Given the description of an element on the screen output the (x, y) to click on. 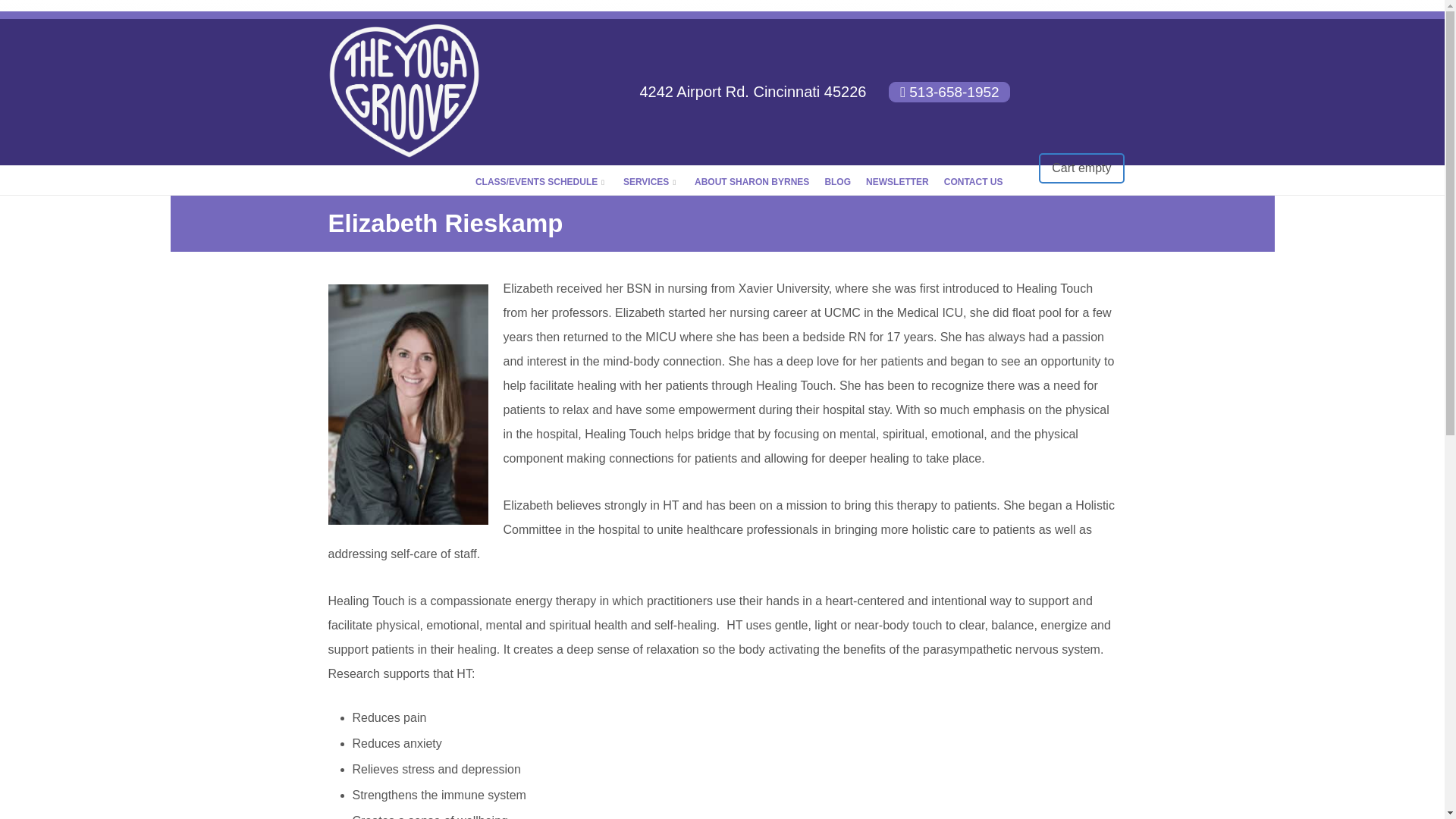
SERVICES (651, 181)
ABOUT SHARON BYRNES (751, 181)
BLOG (837, 181)
513-658-1952 (949, 91)
CONTACT US (973, 181)
NEWSLETTER (897, 181)
Cart empty (1081, 168)
